Given the description of an element on the screen output the (x, y) to click on. 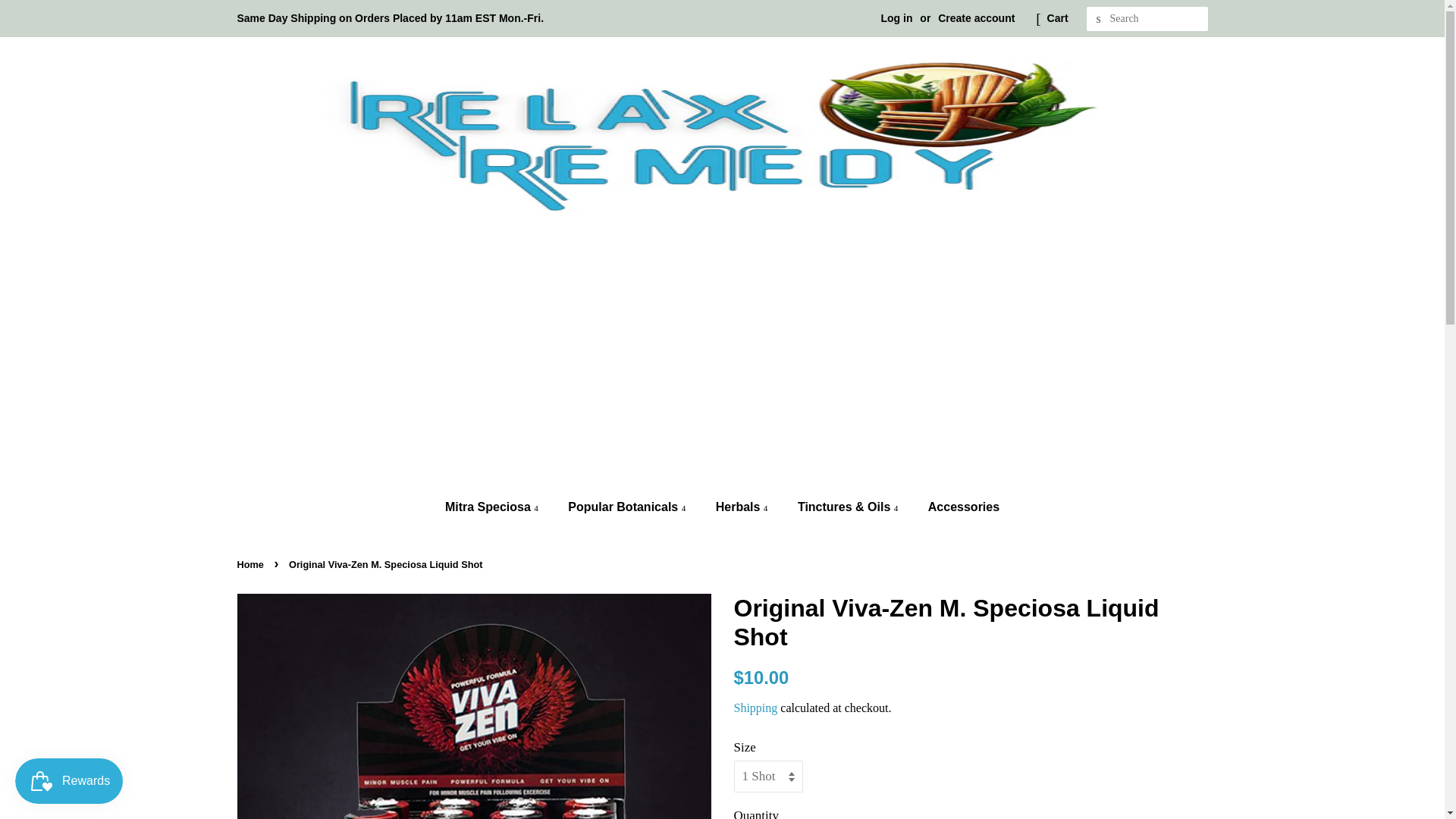
Search (1097, 18)
Back to the frontpage (250, 564)
Cart (1057, 18)
Smile.io Rewards Program Launcher (68, 780)
Create account (975, 18)
Same Day Shipping on Orders Placed by 11am EST Mon.-Fri. (389, 18)
Log in (896, 18)
